Given the description of an element on the screen output the (x, y) to click on. 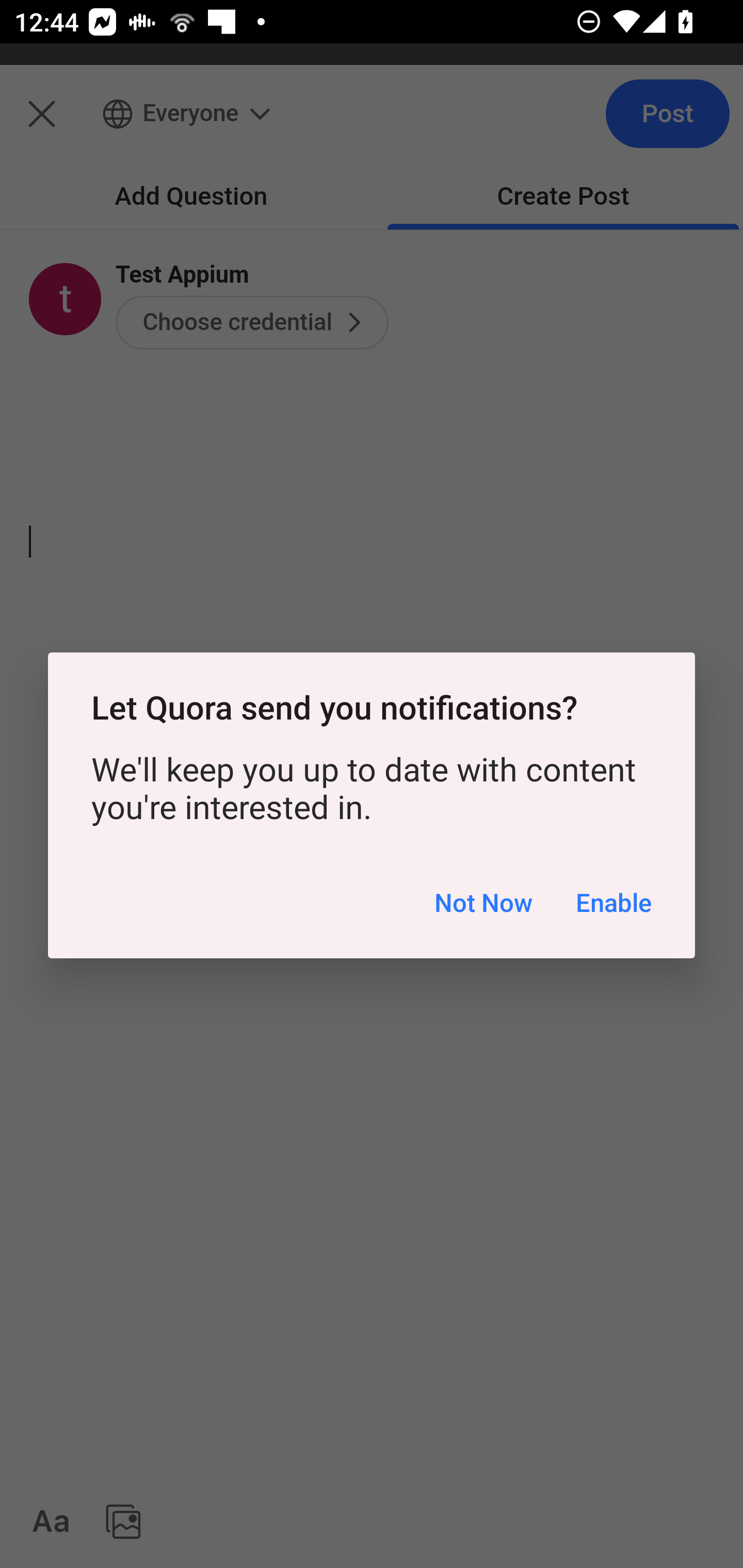
Not Now (483, 901)
Enable (613, 901)
